Given the description of an element on the screen output the (x, y) to click on. 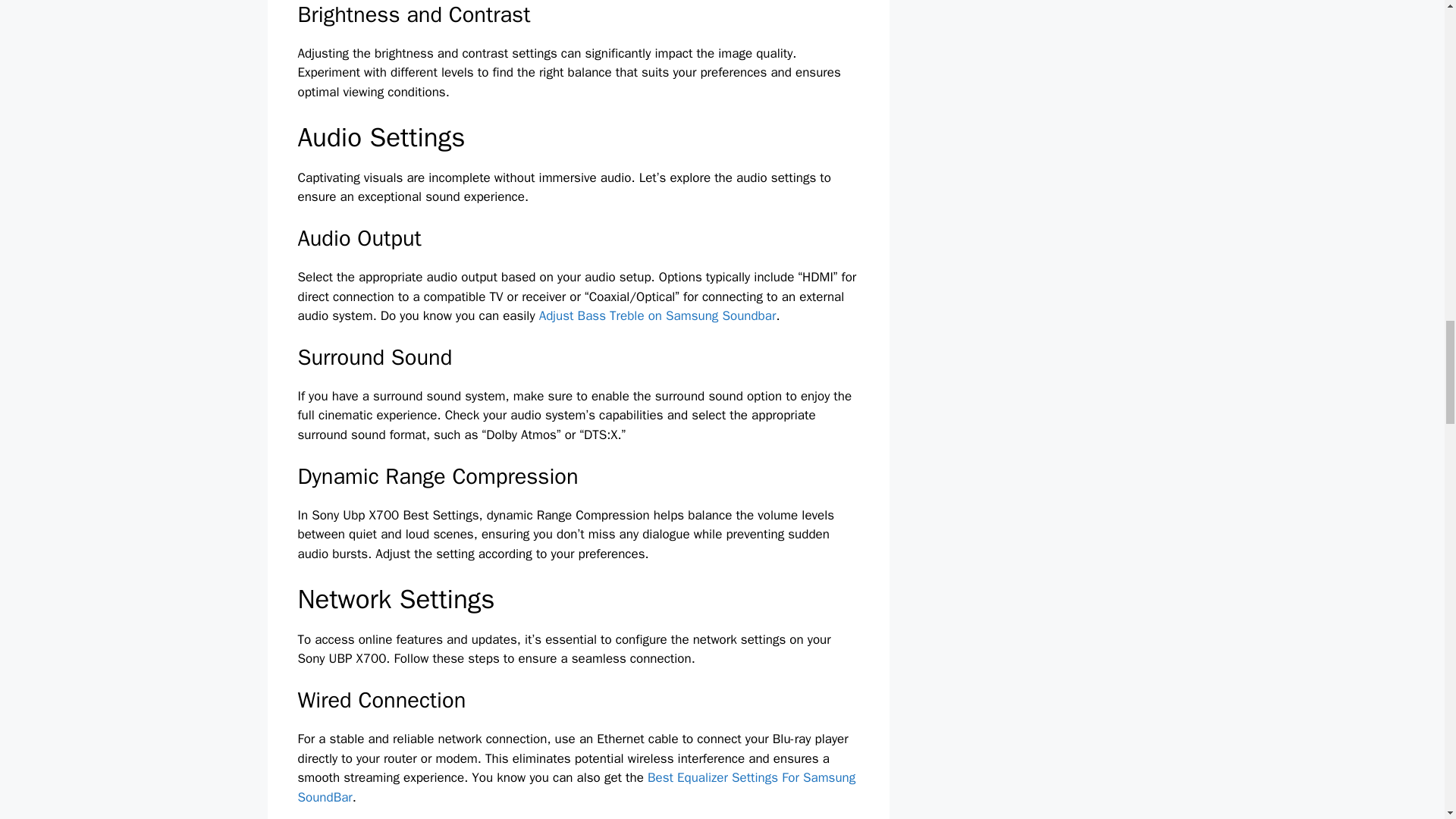
Best Equalizer Settings For Samsung SoundBar (576, 787)
Adjust Bass Treble on Samsung Soundbar (657, 315)
